Given the description of an element on the screen output the (x, y) to click on. 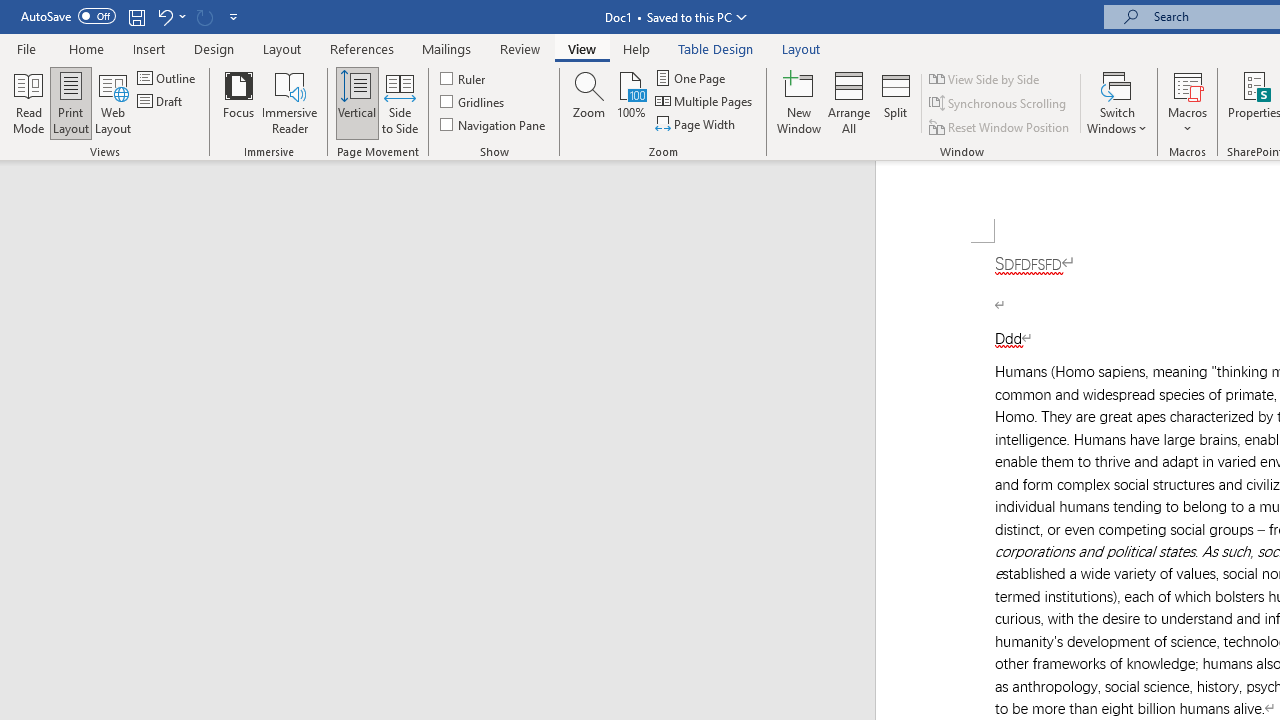
View Side by Side (985, 78)
Focus (238, 102)
Ruler (463, 78)
Switch Windows (1117, 102)
Side to Side (399, 102)
